Given the description of an element on the screen output the (x, y) to click on. 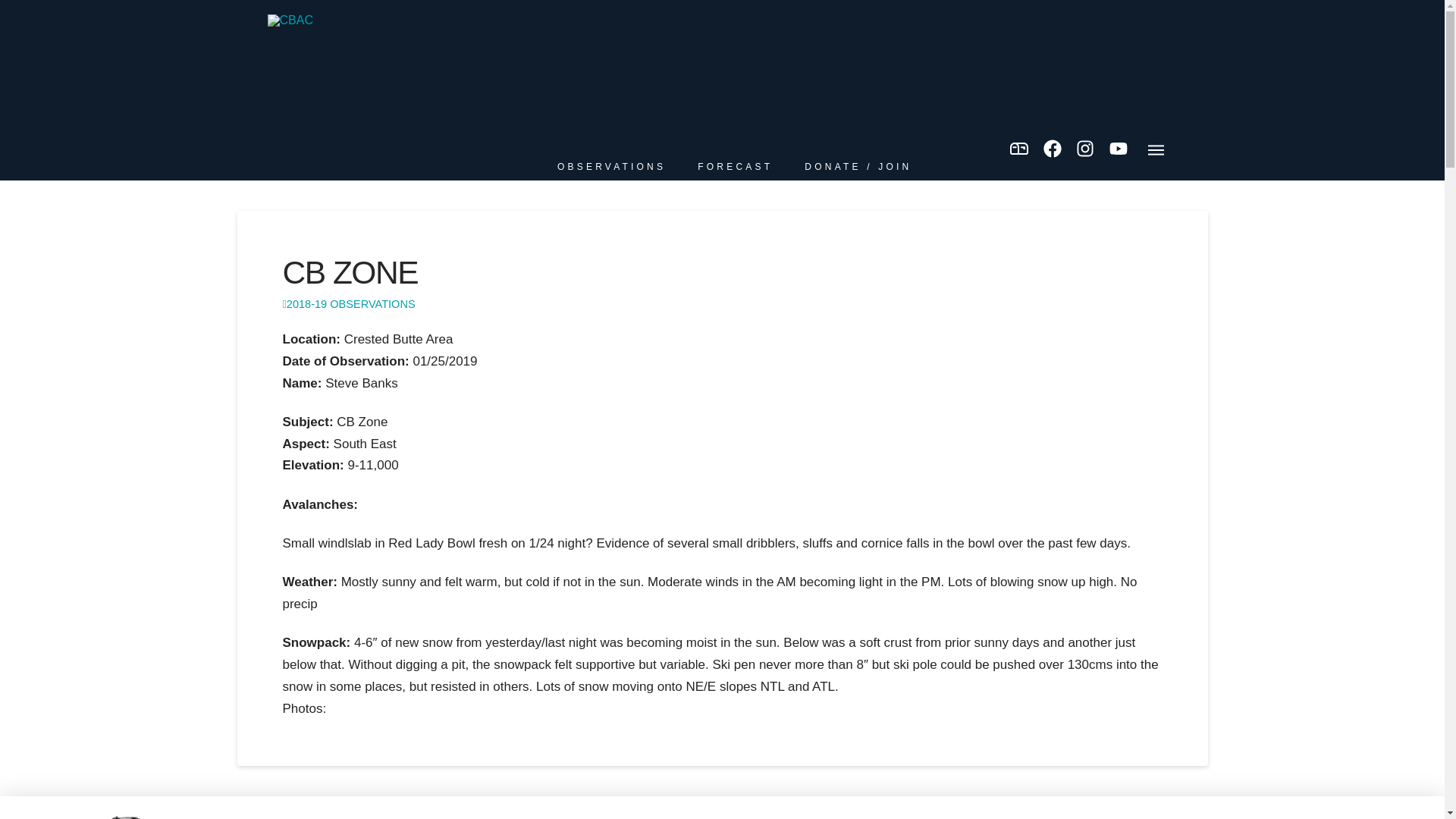
2018-19 OBSERVATIONS (348, 304)
FORECAST (733, 166)
OBSERVATIONS (610, 166)
